Given the description of an element on the screen output the (x, y) to click on. 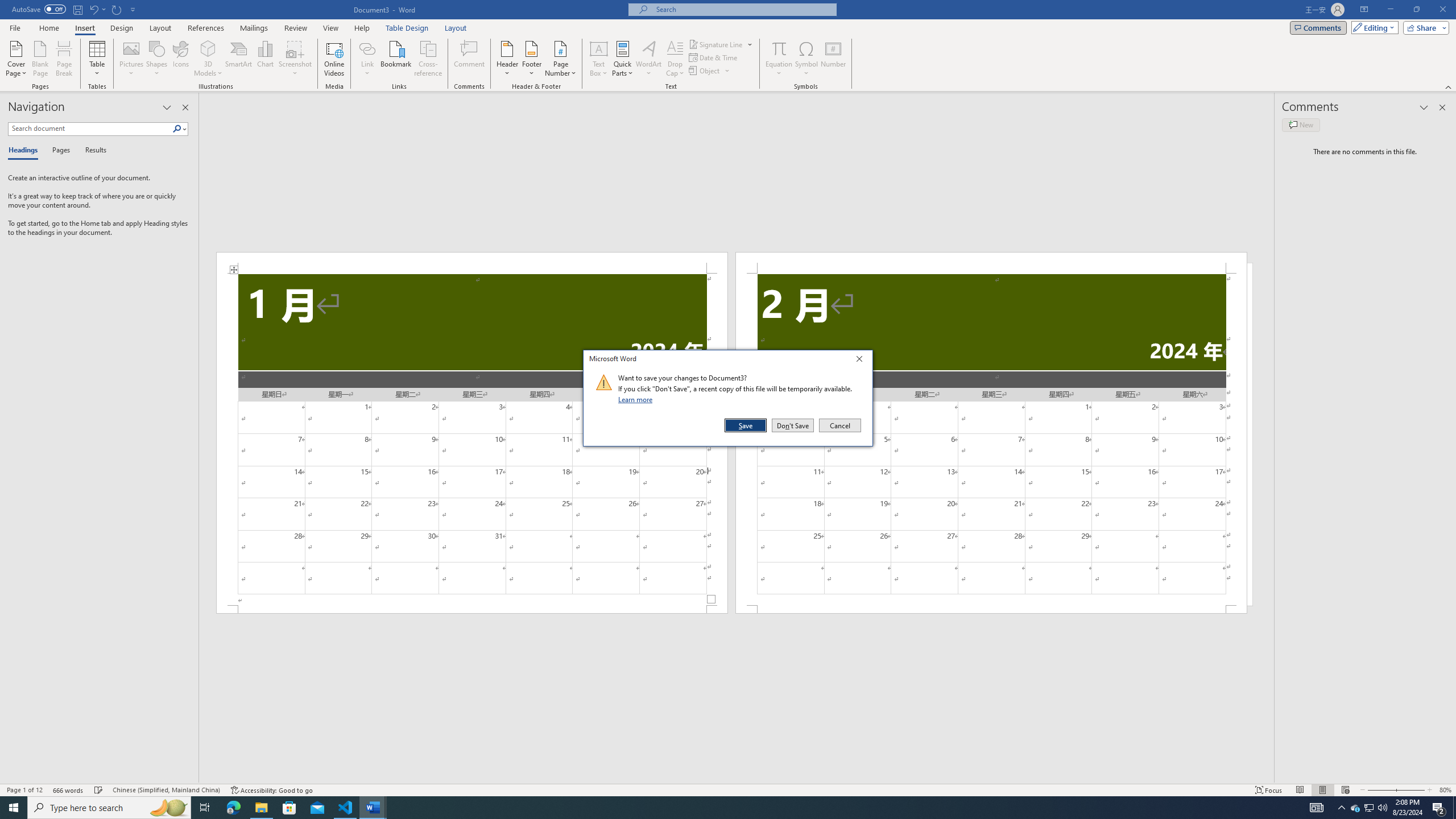
Close (862, 360)
Collapse the Ribbon (1448, 86)
Search highlights icon opens search home window (167, 807)
Results (91, 150)
Ribbon Display Options (1364, 9)
Visual Studio Code - 1 running window (345, 807)
Undo Increase Indent (92, 9)
Page Number (560, 58)
Insert (83, 28)
New comment (1300, 124)
Minimize (1390, 9)
Share (1423, 27)
Action Center, 2 new notifications (1439, 807)
Show desktop (1454, 807)
